Given the description of an element on the screen output the (x, y) to click on. 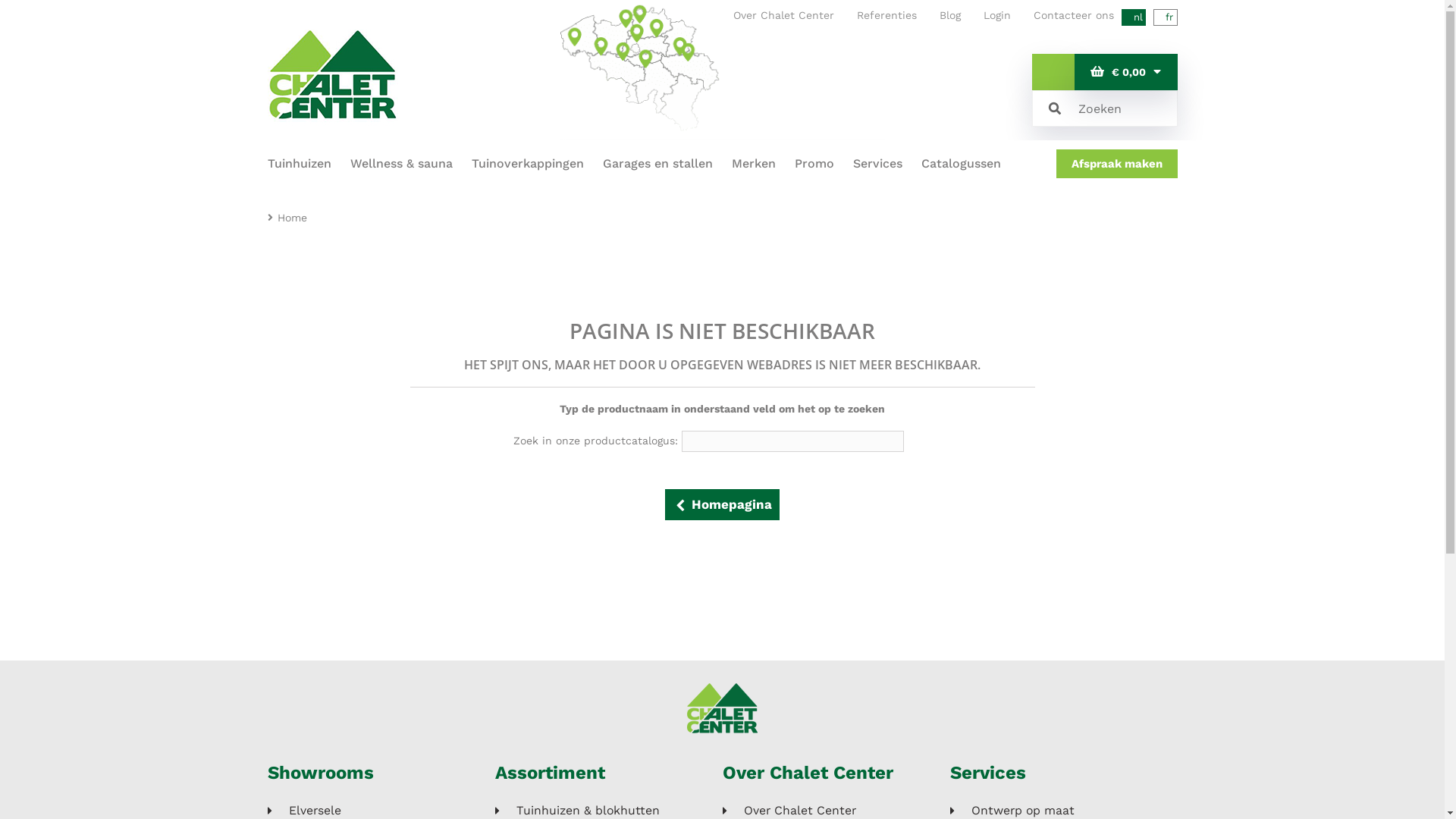
Garages en stallen Element type: text (657, 163)
Login Element type: text (996, 15)
Tuinhuizen & blokhutten Element type: text (576, 810)
Showrooms Element type: text (319, 772)
Services Element type: text (876, 163)
Over Chalet Center Element type: text (788, 810)
Catalogussen Element type: text (960, 163)
Referenties Element type: text (886, 15)
Tuinhuizen Element type: text (298, 163)
Merken Element type: text (753, 163)
Contacteer ons Element type: text (1072, 15)
Over Chalet Center Element type: text (782, 15)
Tuinoverkappingen Element type: text (527, 163)
Over Chalet Center Element type: text (806, 772)
Wellness & sauna Element type: text (401, 163)
Ontwerp op maat Element type: text (1011, 810)
Home Element type: text (292, 217)
Homepagina Element type: text (722, 504)
fr Element type: text (1164, 17)
Afspraak maken Element type: text (1115, 163)
Blog Element type: text (949, 15)
Promo Element type: text (814, 163)
Elversele Element type: text (303, 810)
